Given the description of an element on the screen output the (x, y) to click on. 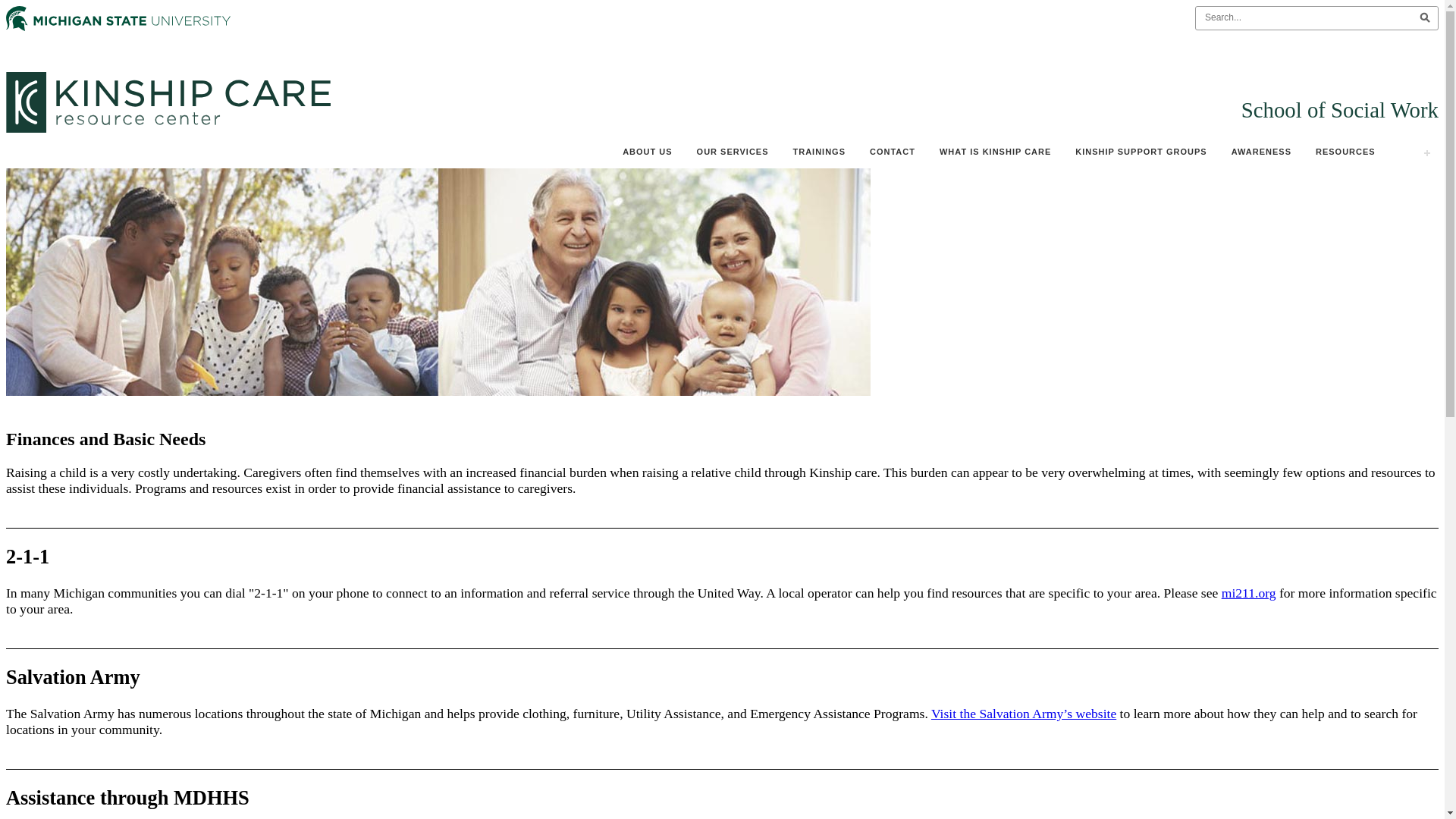
OUR SERVICES (732, 151)
CONTACT (892, 151)
ABOUT US (647, 151)
TRAININGS (819, 151)
mi211.org (1248, 592)
AWARENESS (1261, 151)
KINSHIP SUPPORT GROUPS (1140, 151)
WHAT IS KINSHIP CARE (994, 151)
